Given the description of an element on the screen output the (x, y) to click on. 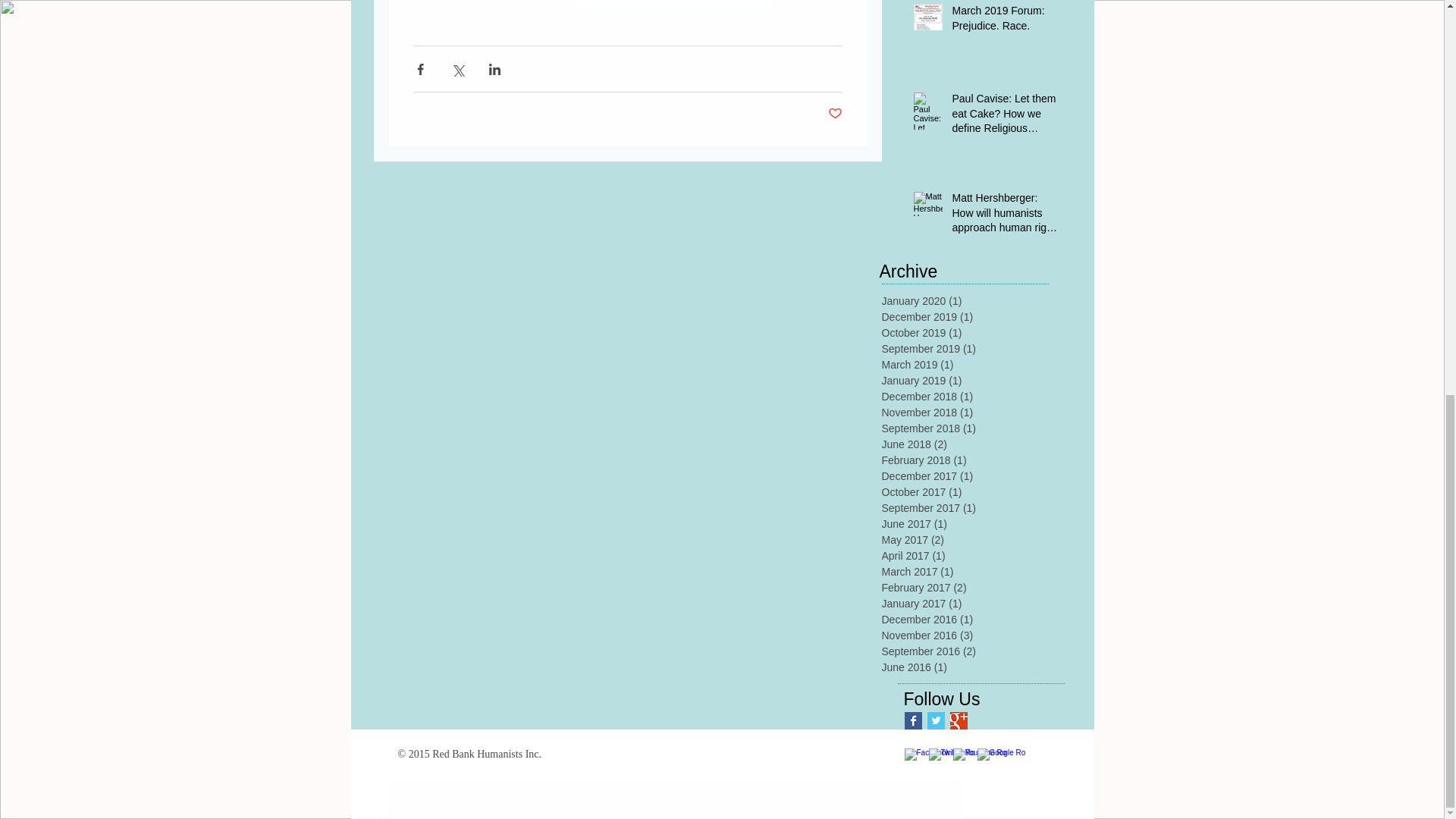
Post not marked as liked (835, 114)
March 2019 Forum: Prejudice. Race. (1006, 21)
